Given the description of an element on the screen output the (x, y) to click on. 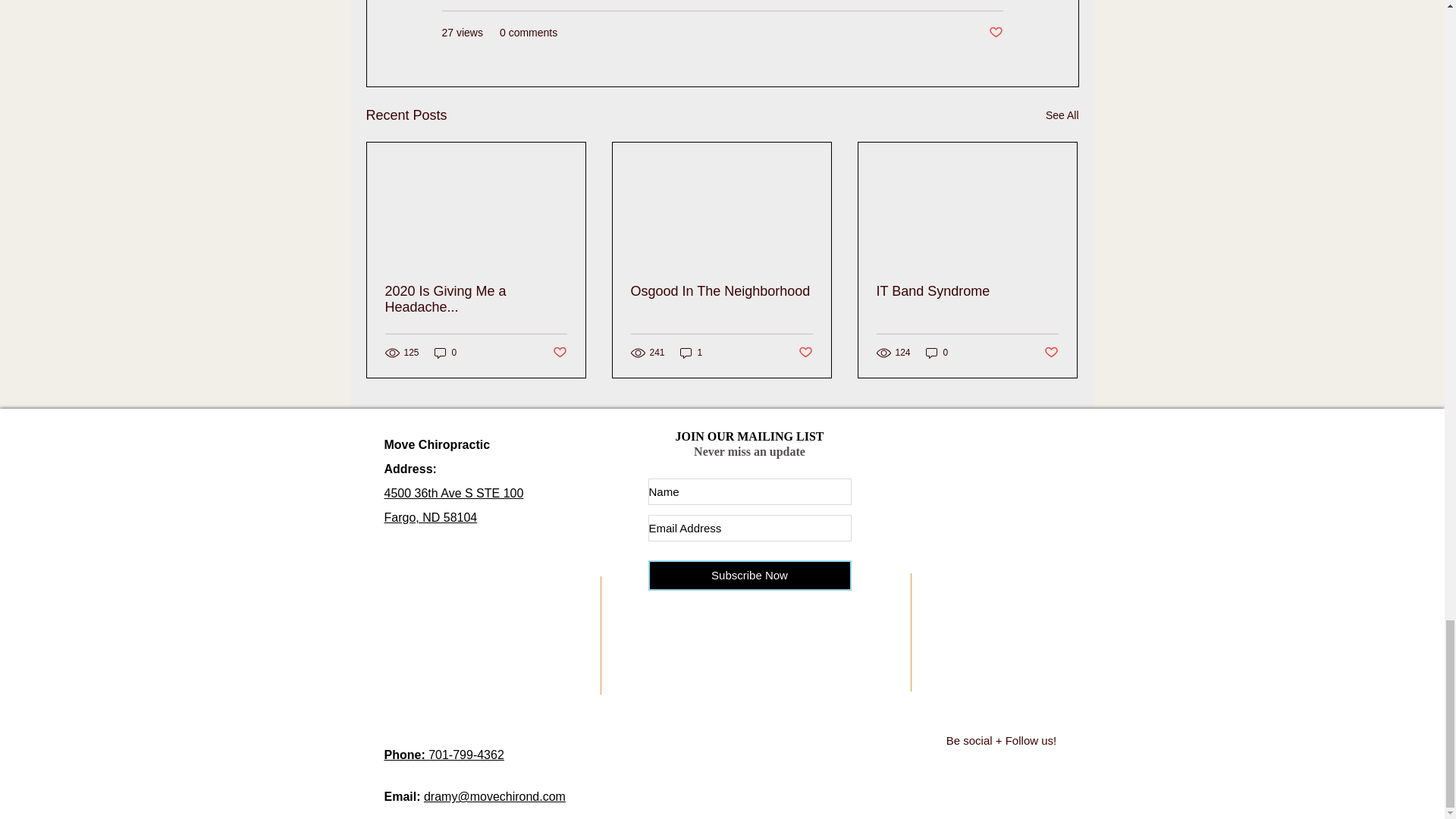
1 (691, 352)
Post not marked as liked (558, 352)
Phone: 701-799-4362 (443, 754)
Osgood In The Neighborhood (721, 291)
Post not marked as liked (1050, 352)
Post not marked as liked (804, 352)
See All (1061, 115)
0 (445, 352)
IT Band Syndrome (453, 505)
2020 Is Giving Me a Headache... (967, 291)
Subscribe Now (476, 299)
0 (748, 575)
Post not marked as liked (937, 352)
